Given the description of an element on the screen output the (x, y) to click on. 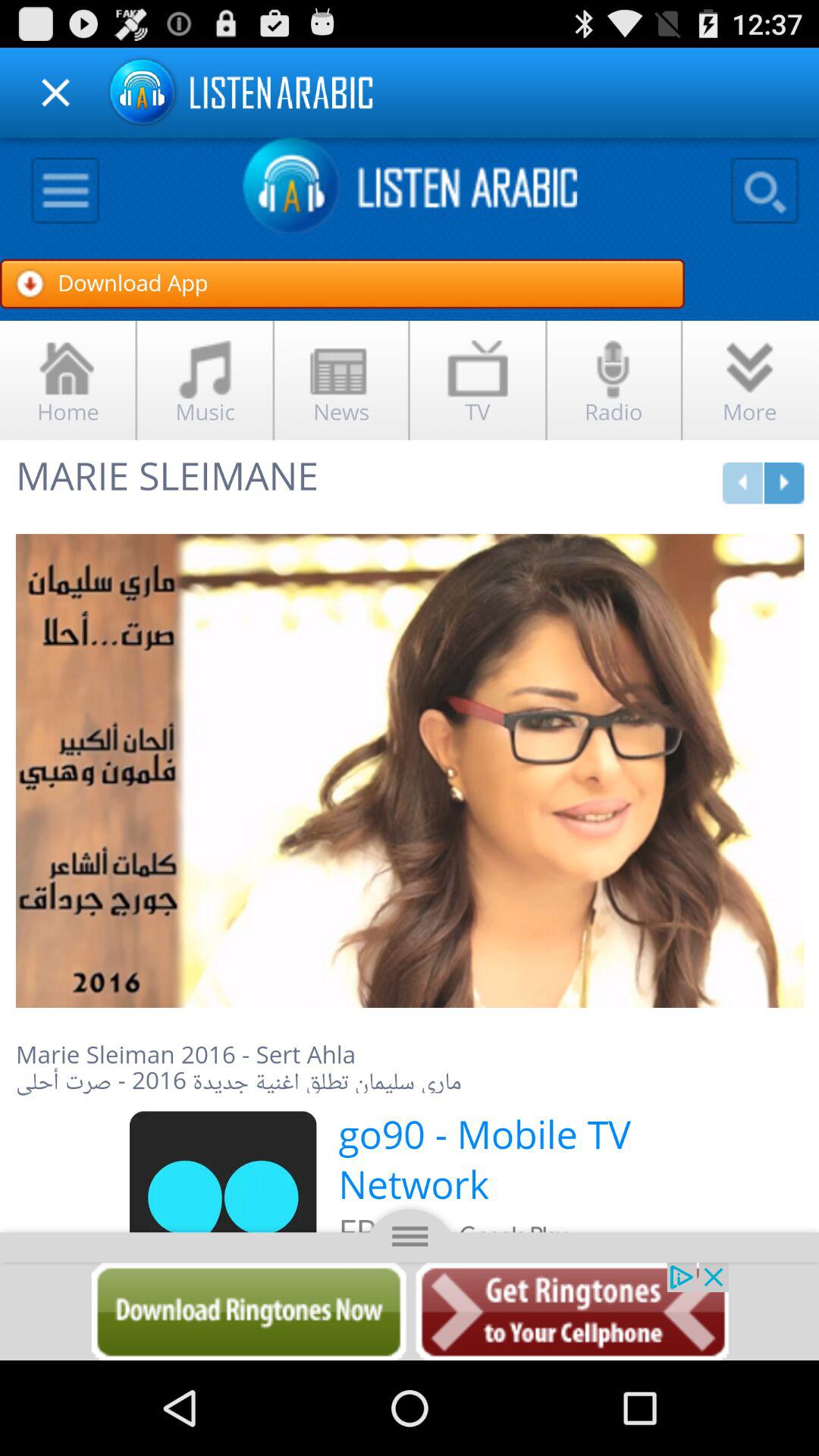
close (55, 92)
